Given the description of an element on the screen output the (x, y) to click on. 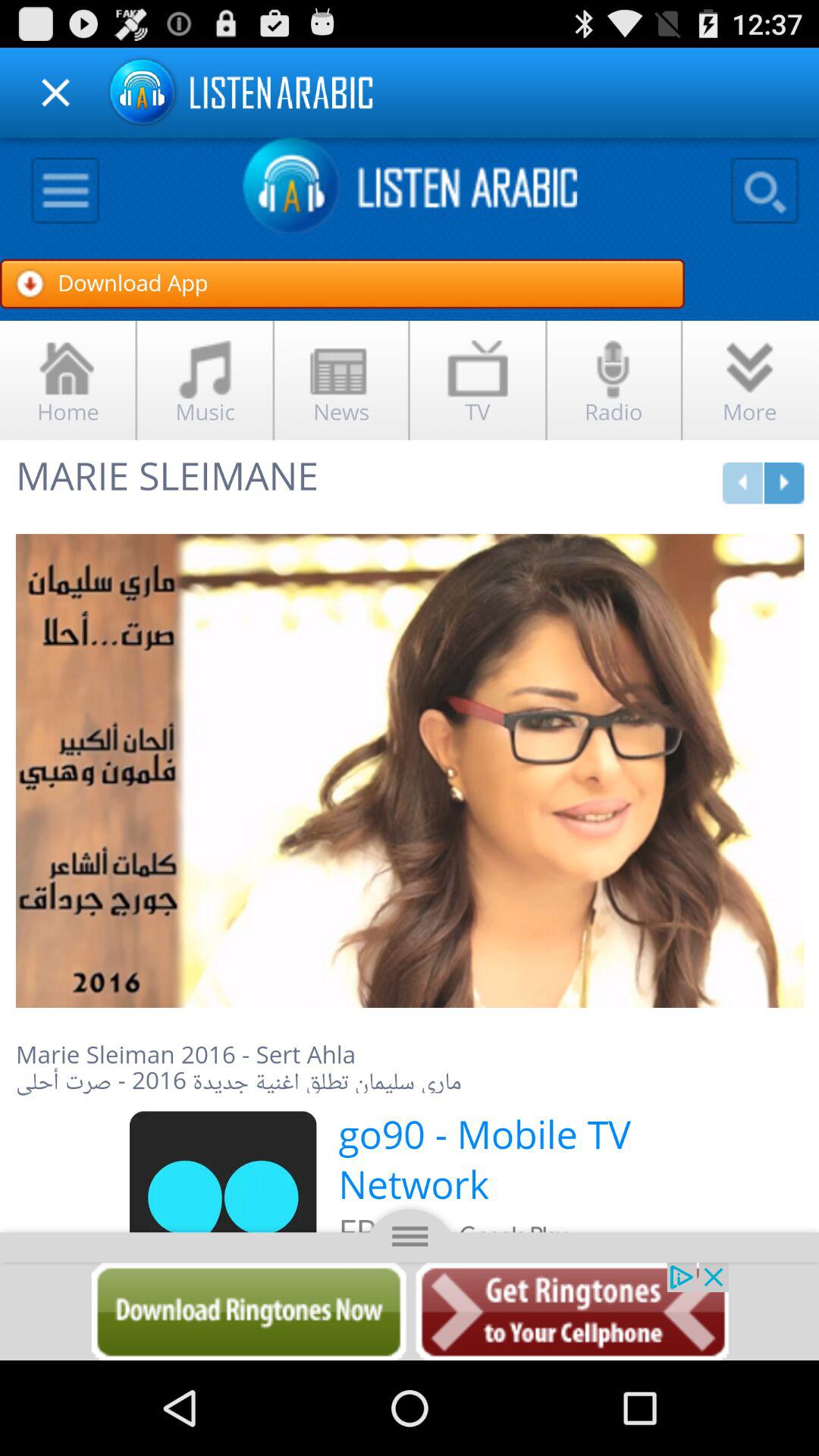
close (55, 92)
